Given the description of an element on the screen output the (x, y) to click on. 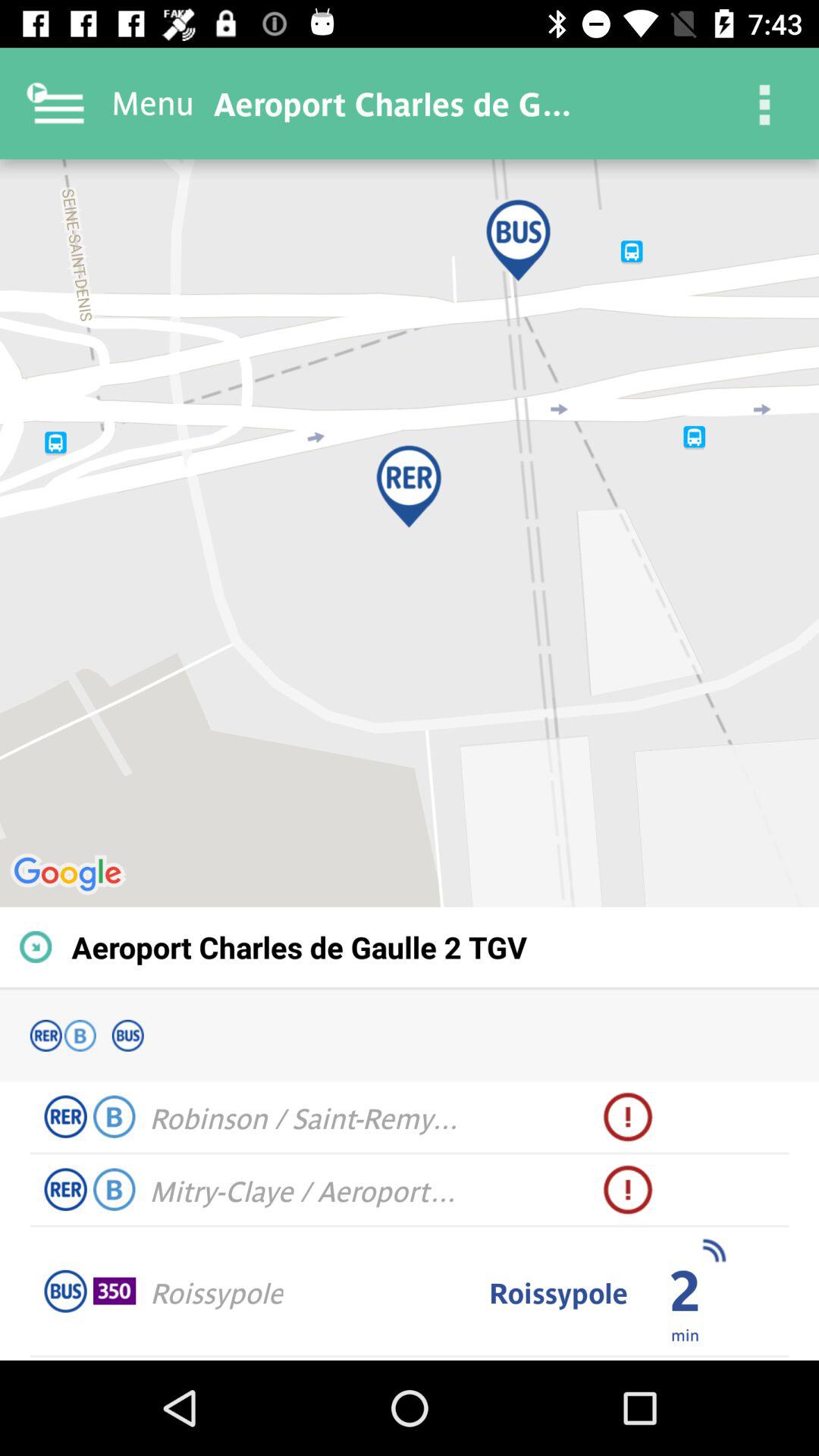
choose the icon below the 2 (684, 1334)
